Given the description of an element on the screen output the (x, y) to click on. 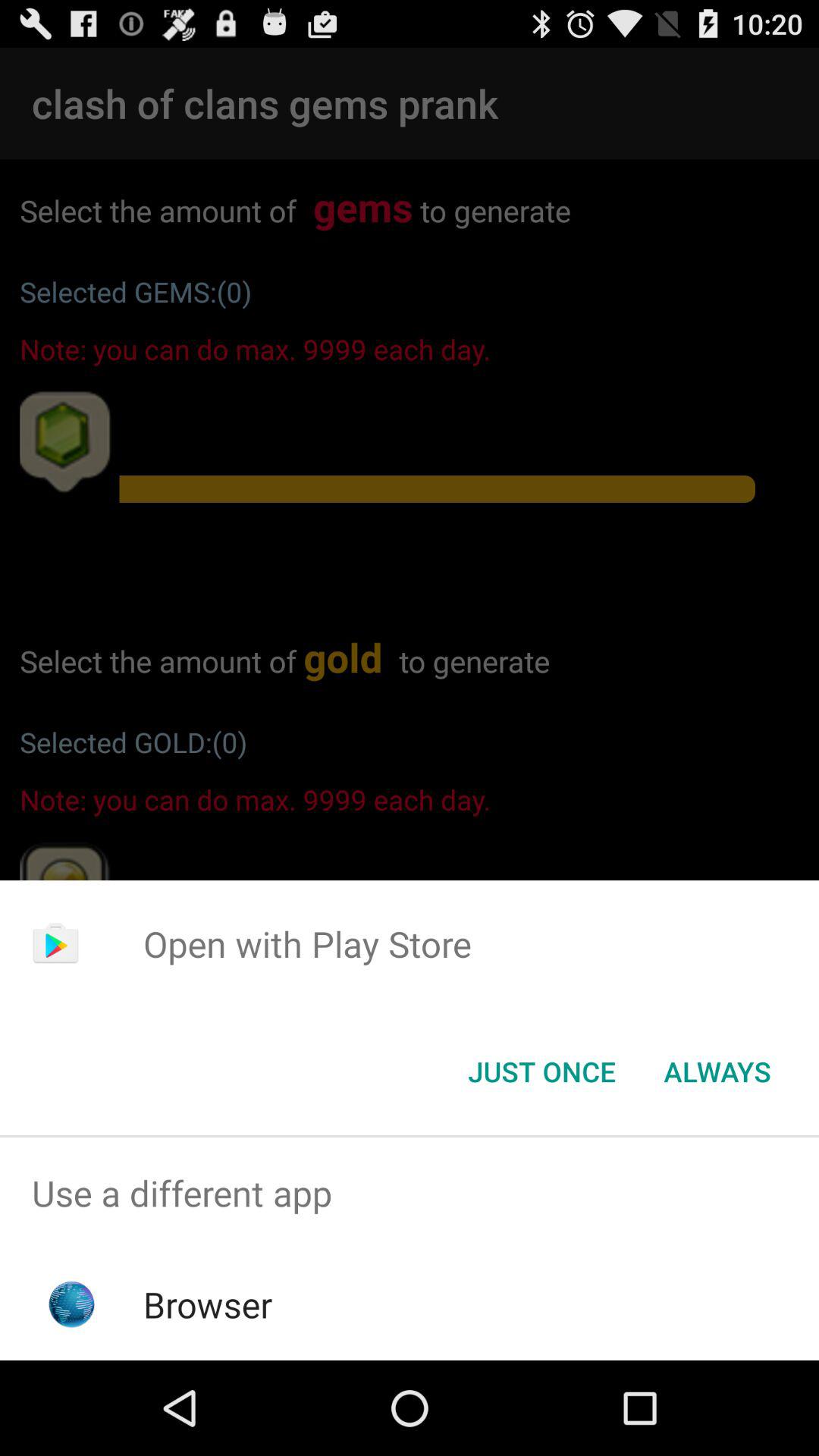
flip to the use a different (409, 1192)
